Given the description of an element on the screen output the (x, y) to click on. 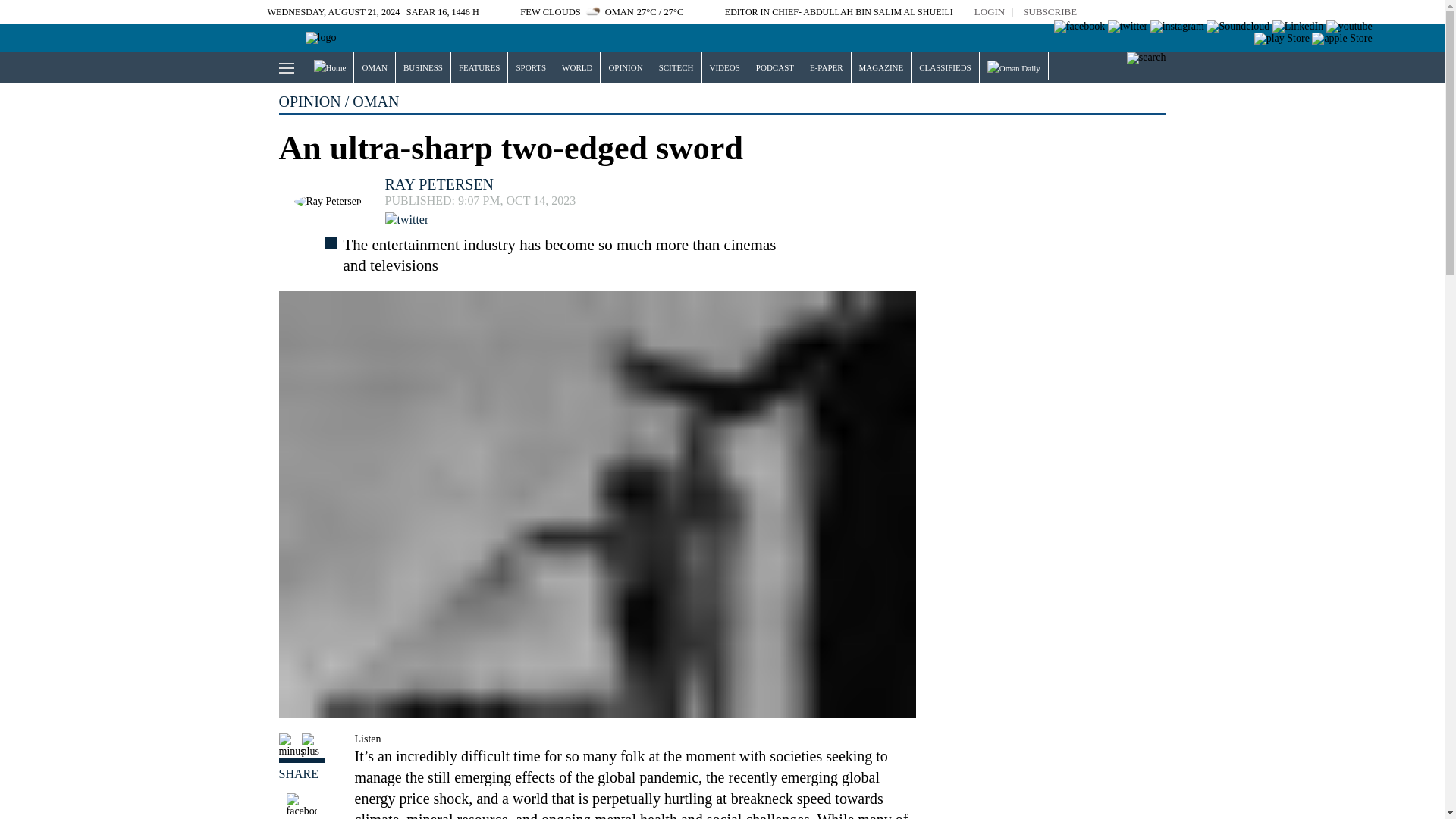
Oman Observer (301, 37)
OPINION (624, 67)
SPORTS (530, 67)
WORLD (576, 67)
BUSINESS (422, 67)
MAGAZINE (881, 67)
LinkedIn (1297, 26)
OMAN (373, 67)
OPINION (624, 67)
OMAN (373, 67)
